Given the description of an element on the screen output the (x, y) to click on. 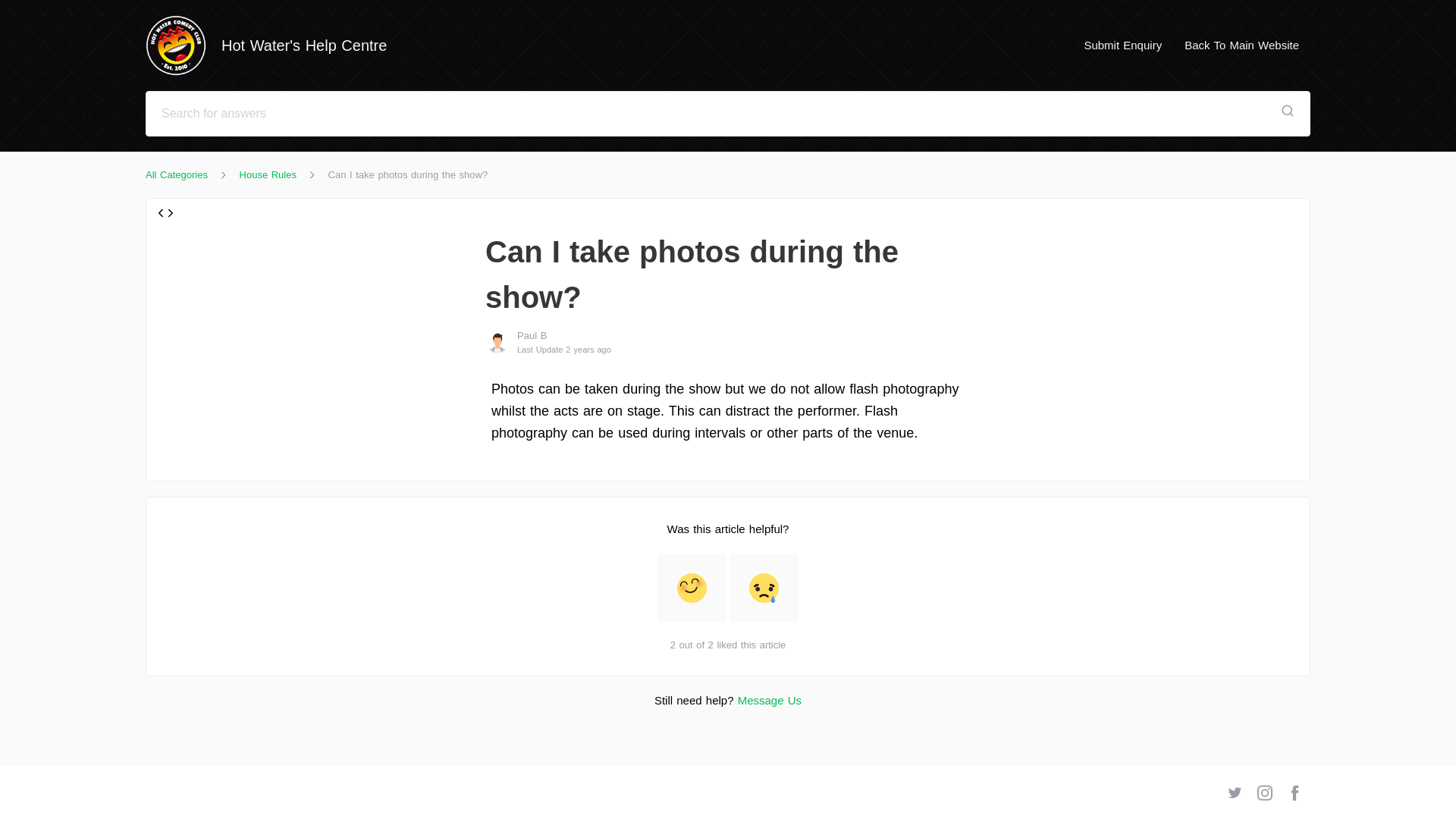
House Rules (268, 174)
Hot Water's Help Centre (273, 45)
All Categories (176, 174)
Submit Enquiry (1122, 45)
Message Us (770, 699)
Back To Main Website (1241, 45)
